Given the description of an element on the screen output the (x, y) to click on. 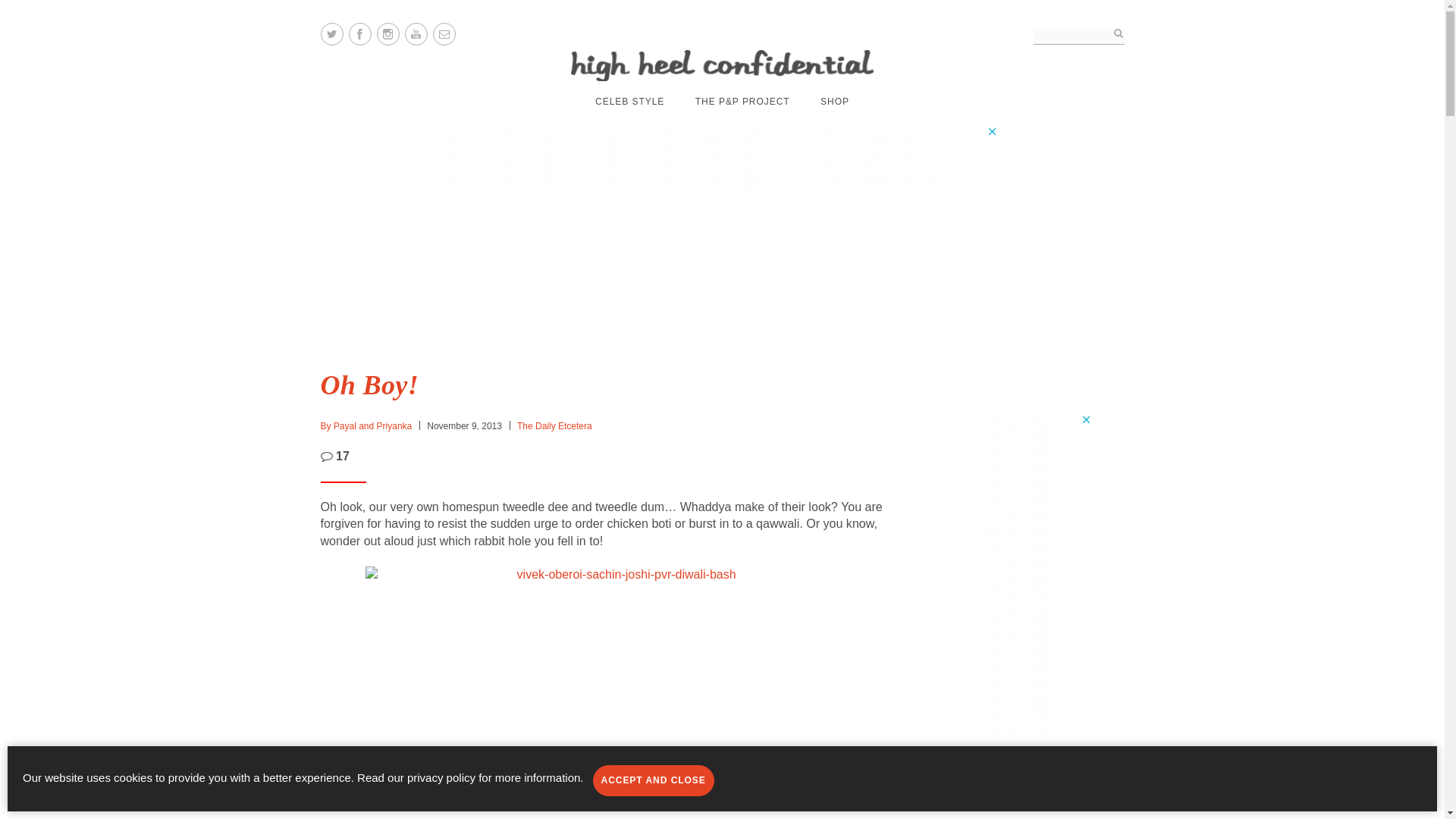
3rd party ad content (721, 159)
High Heel Confidential (721, 65)
CELEB STYLE (629, 101)
The Daily Etcetera (554, 425)
Oh Boy! (369, 385)
By Payal and Priyanka (366, 425)
17 (334, 456)
SHOP (834, 101)
